Given the description of an element on the screen output the (x, y) to click on. 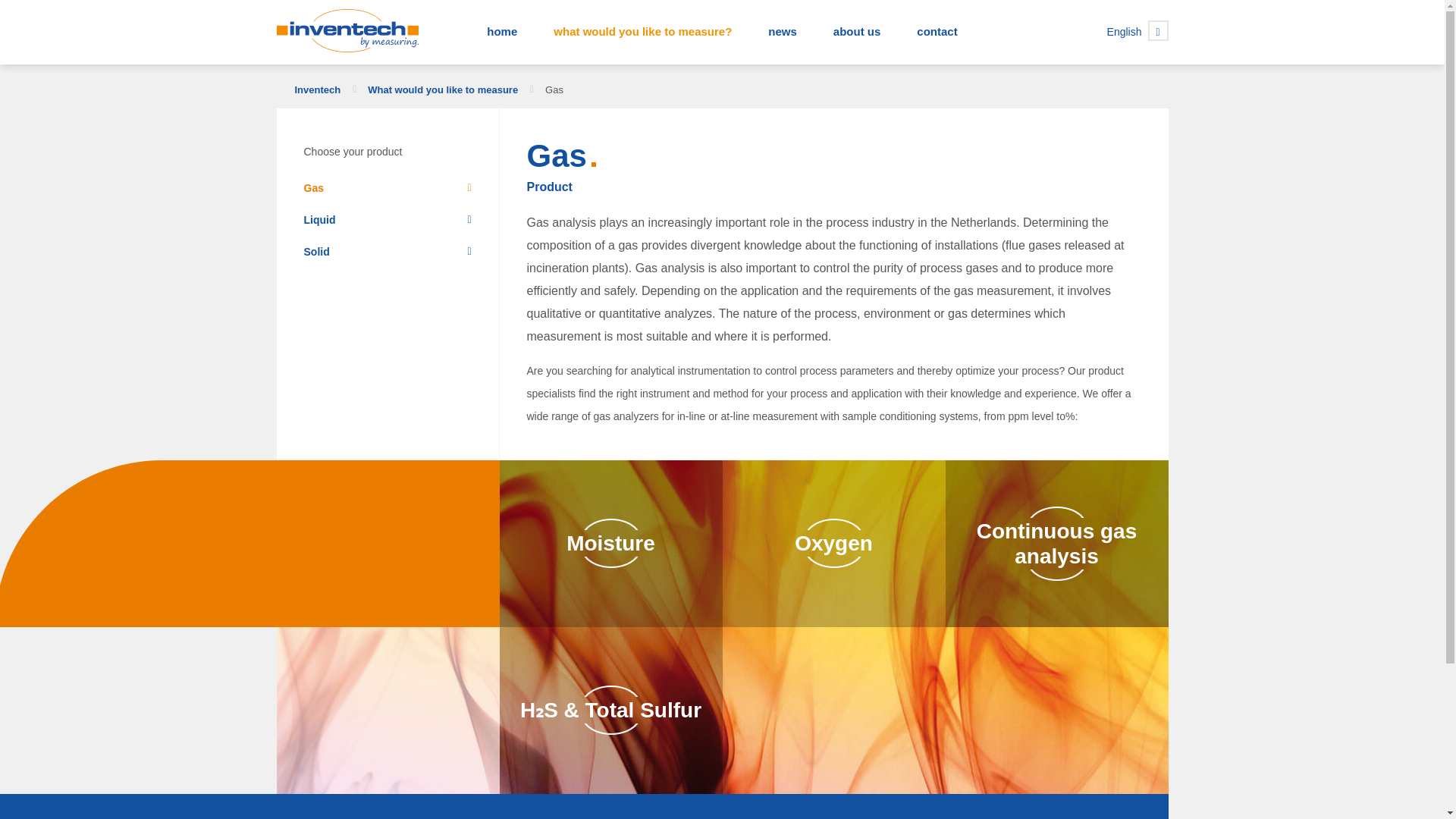
News (782, 31)
About us (857, 31)
about us (857, 31)
Contact (936, 31)
contact (936, 31)
Solid (386, 251)
home (501, 31)
Gas (386, 187)
what would you like to measure? (642, 31)
What would you like to measure (443, 89)
